Given the description of an element on the screen output the (x, y) to click on. 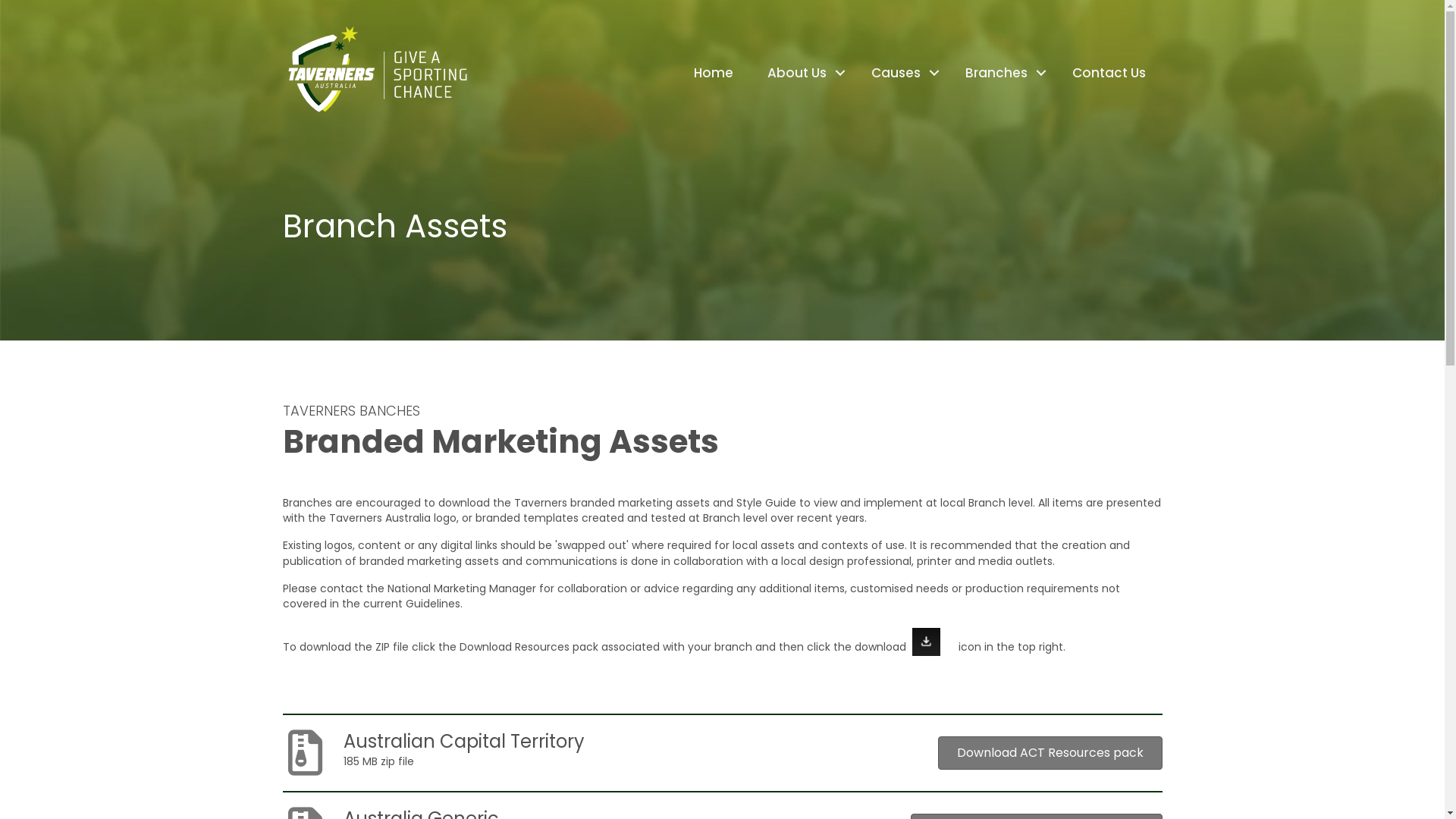
Download ACT Resources pack Element type: text (1050, 752)
About Us Element type: text (801, 73)
Branches Element type: text (1000, 73)
Causes Element type: text (900, 73)
Home Element type: text (712, 73)
TAV010_Sporting-Chance_Aus-1-1 Element type: hover (376, 72)
Contact Us Element type: text (1108, 73)
